Given the description of an element on the screen output the (x, y) to click on. 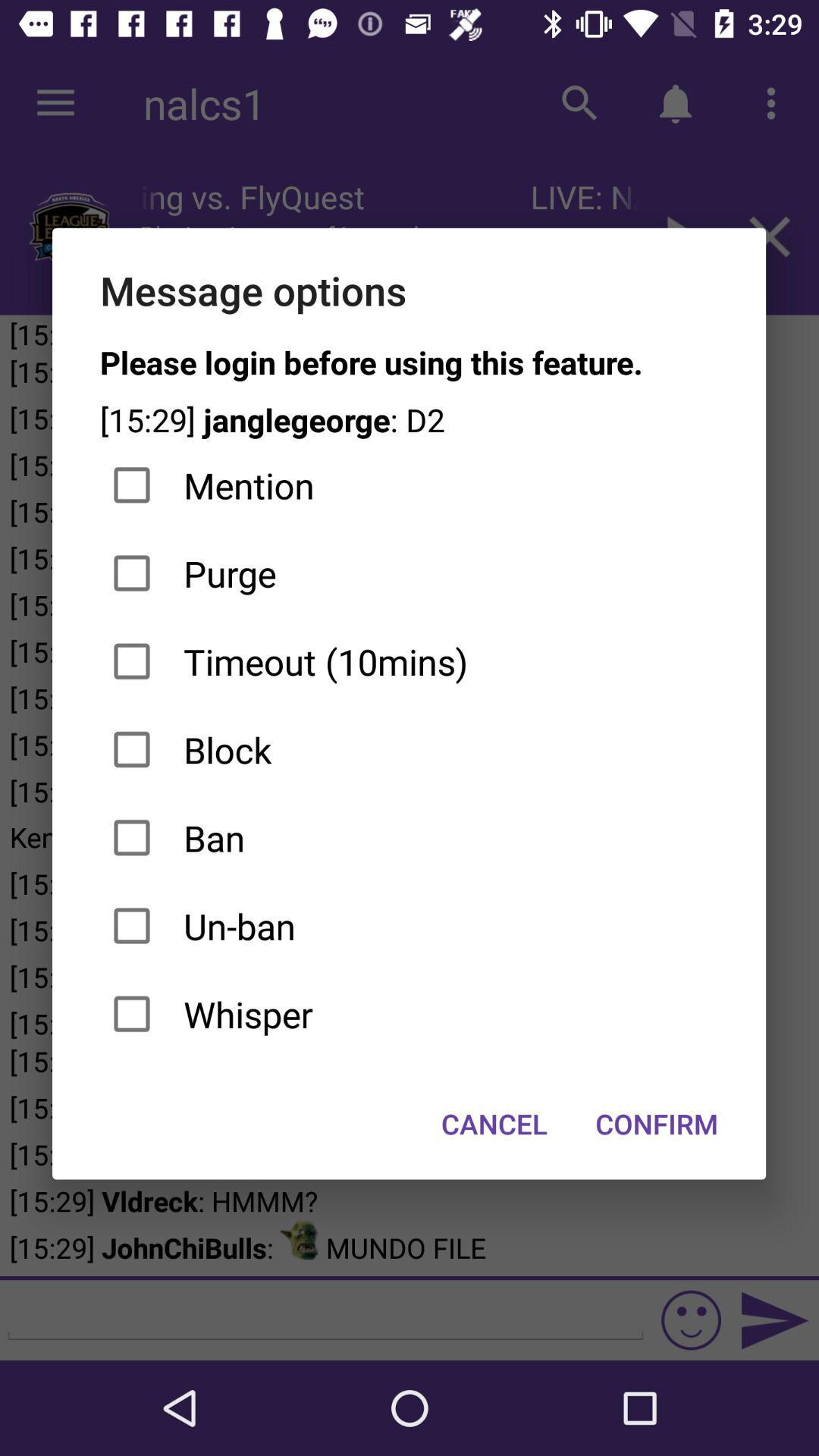
select the item below timeout (10mins) item (409, 749)
